Given the description of an element on the screen output the (x, y) to click on. 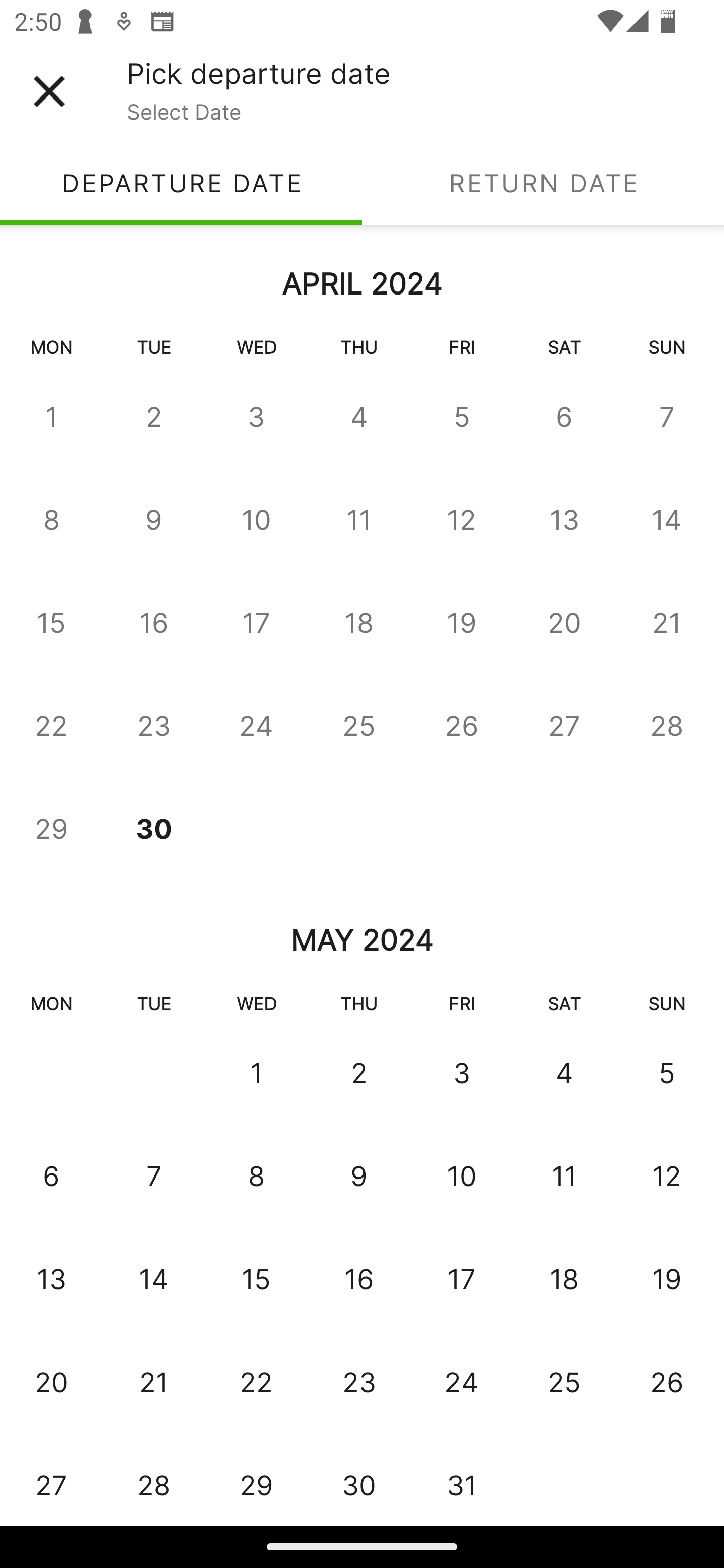
Return Date RETURN DATE (543, 183)
